Given the description of an element on the screen output the (x, y) to click on. 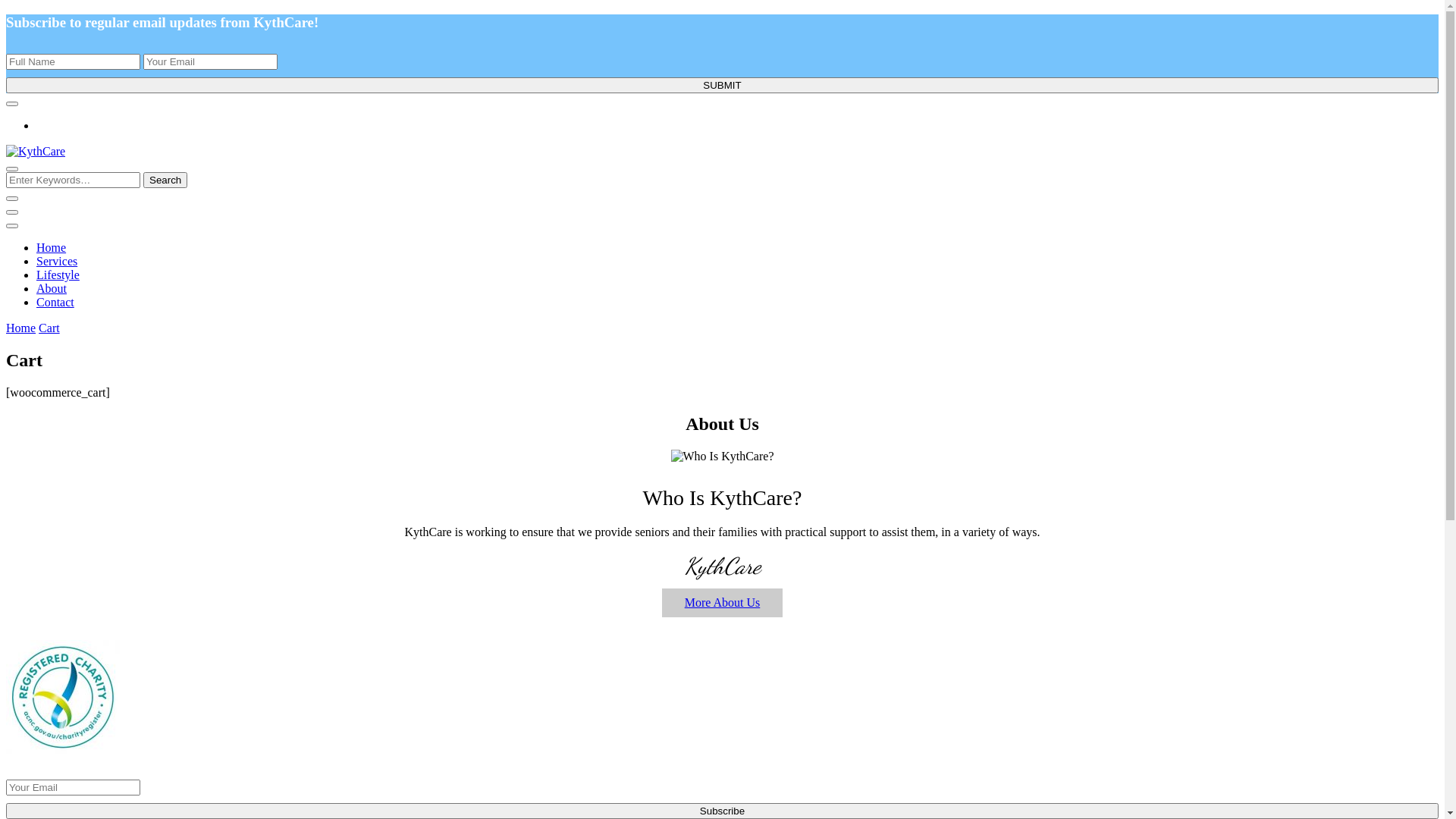
Lifestyle Element type: text (57, 274)
KythCare Element type: text (79, 206)
Services Element type: text (56, 260)
SUBMIT Element type: text (722, 85)
About Element type: text (51, 288)
Search Element type: text (165, 180)
Skip to Content Element type: text (5, 13)
Cart Element type: text (48, 327)
More About Us Element type: text (722, 602)
Contact Element type: text (55, 301)
Home Element type: text (50, 247)
Home Element type: text (20, 327)
